Given the description of an element on the screen output the (x, y) to click on. 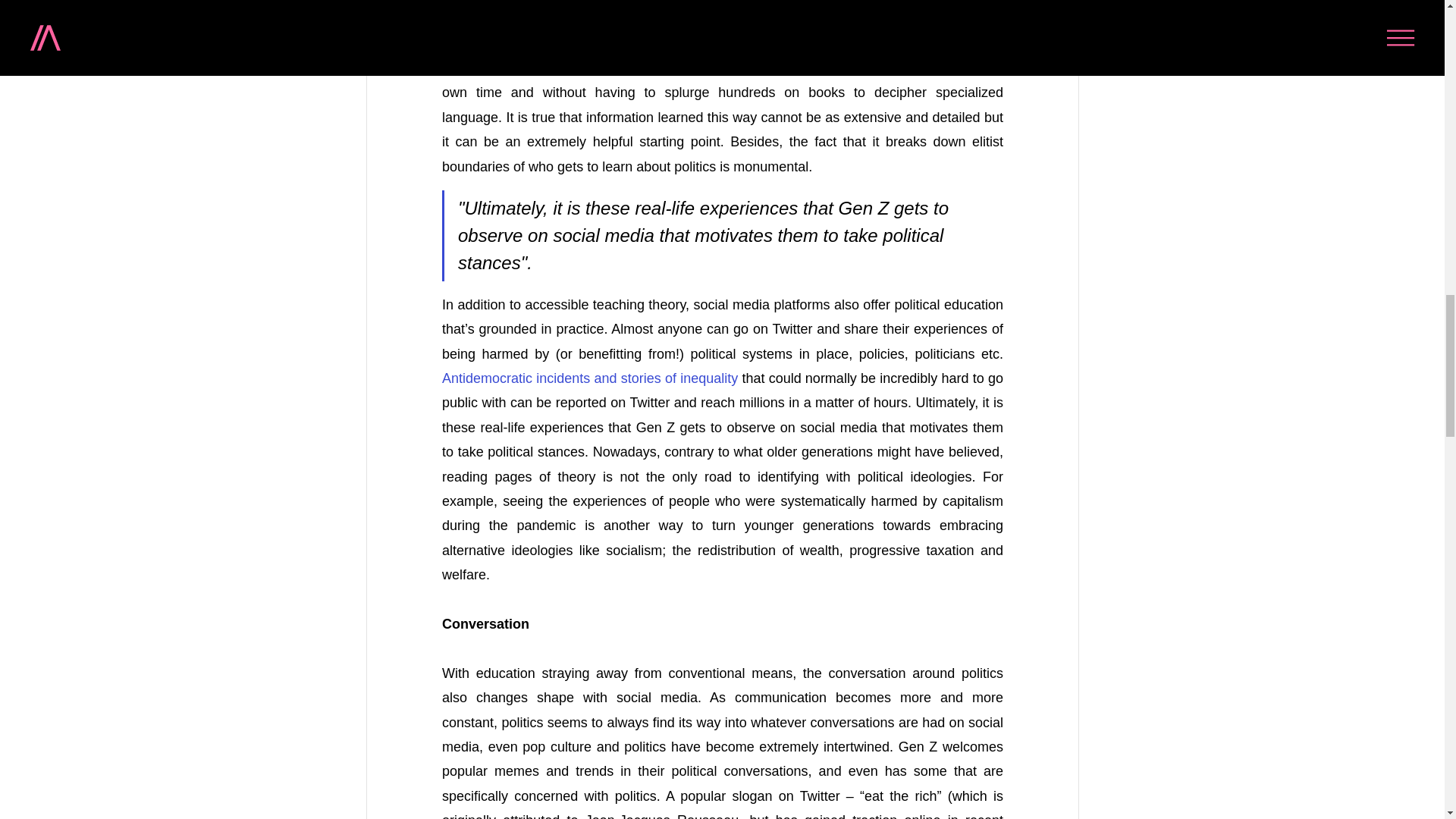
Antidemocratic incidents and stories of inequality (588, 378)
